Given the description of an element on the screen output the (x, y) to click on. 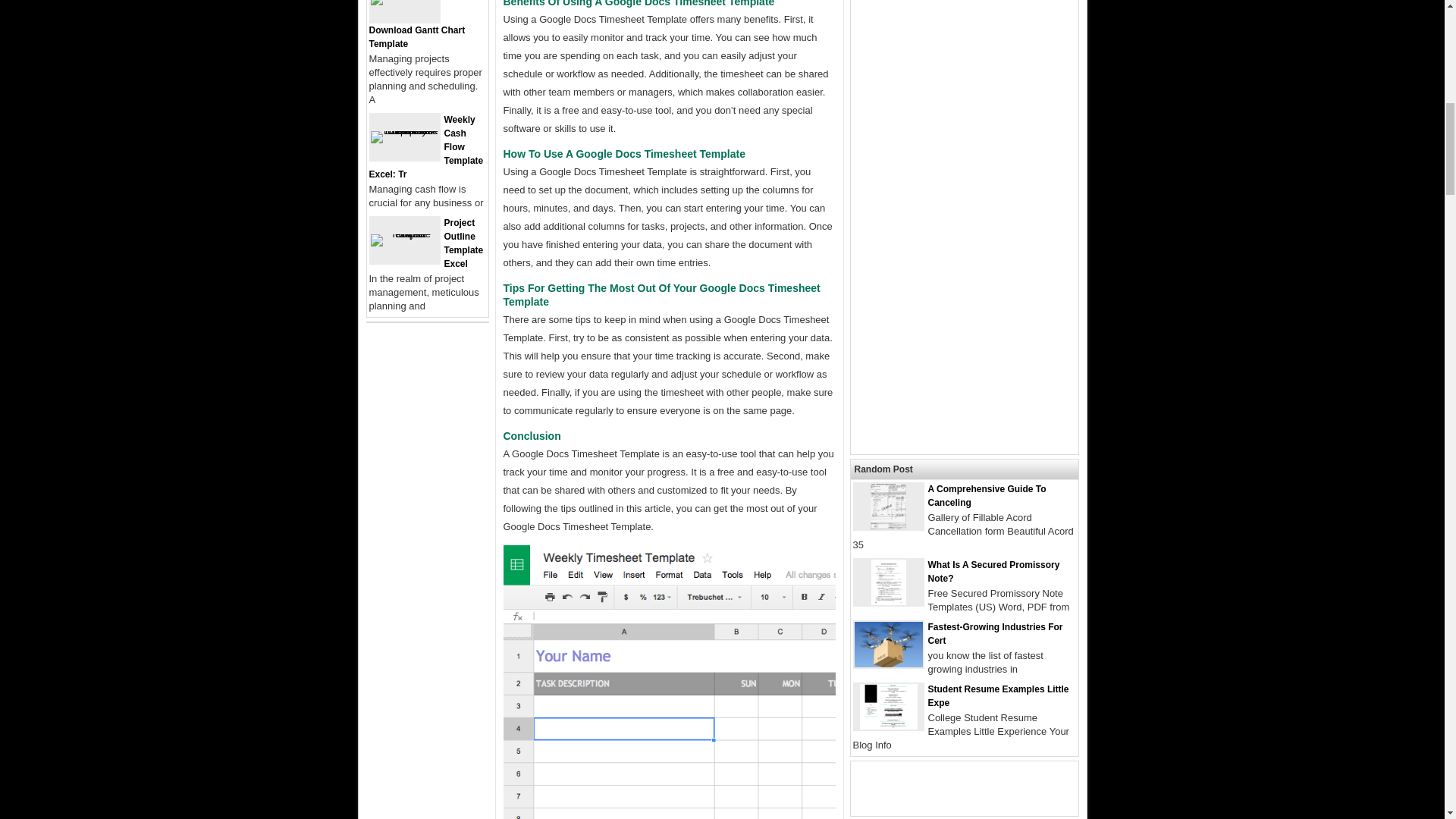
Free Download Gantt Chart Template For Excel (416, 24)
